Given the description of an element on the screen output the (x, y) to click on. 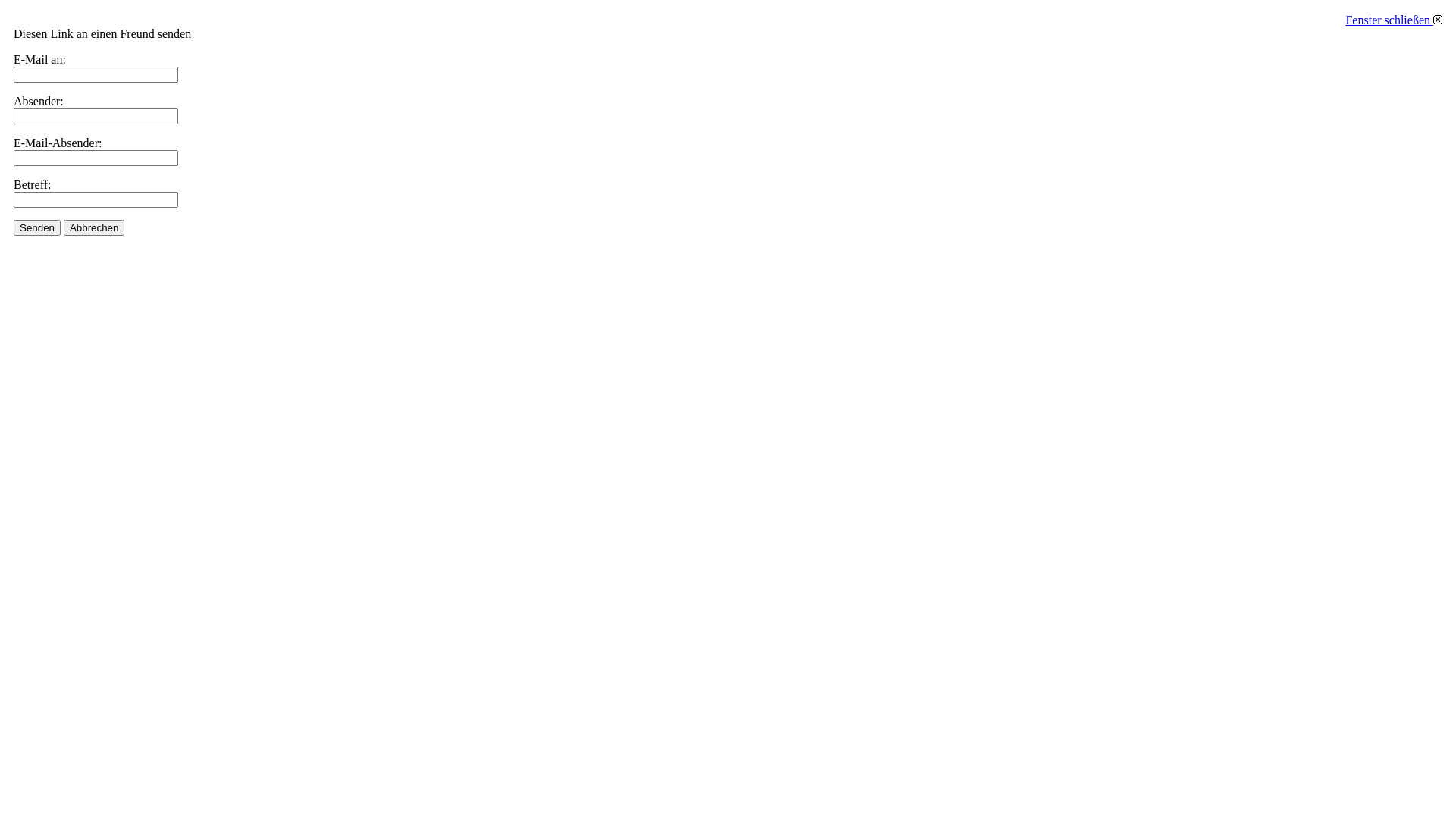
Abbrechen Element type: text (93, 227)
Senden Element type: text (36, 227)
